Given the description of an element on the screen output the (x, y) to click on. 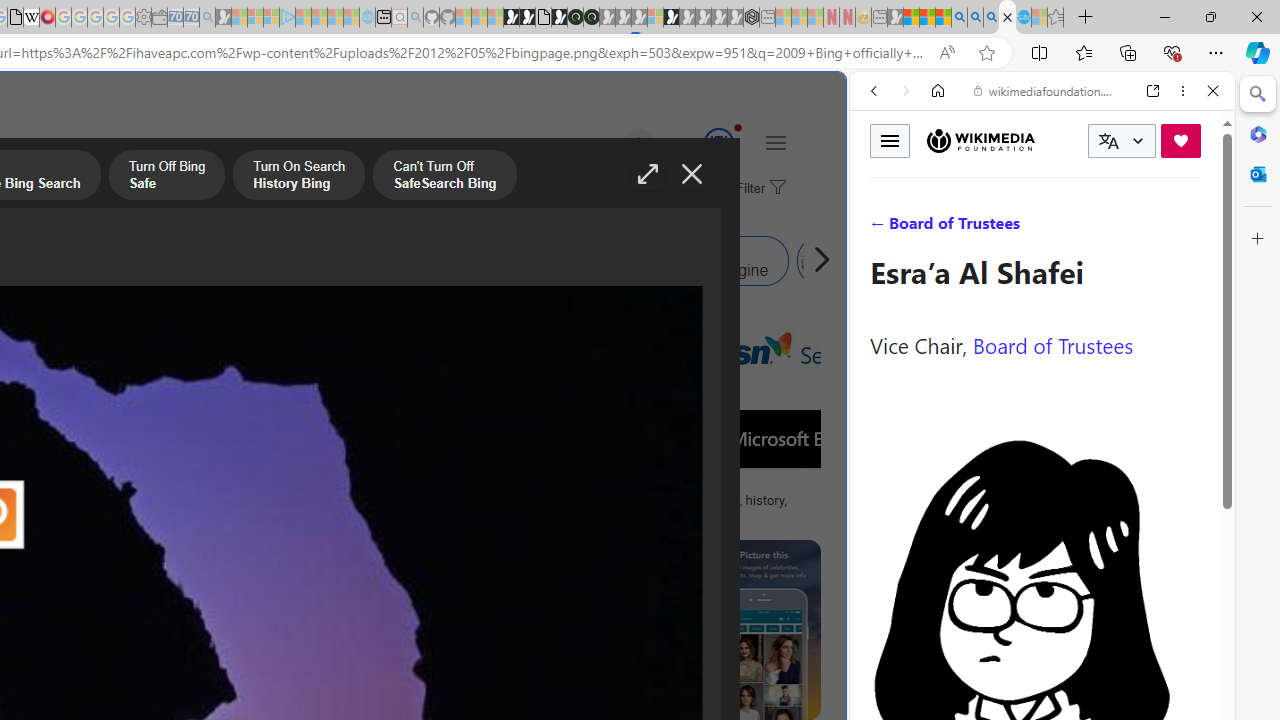
MSN Homepage Bing Search Engine (151, 260)
Can't Turn Off SafeSearch Bing (444, 177)
Settings and quick links (775, 142)
Https Bing Search Q MSN (889, 260)
